Given the description of an element on the screen output the (x, y) to click on. 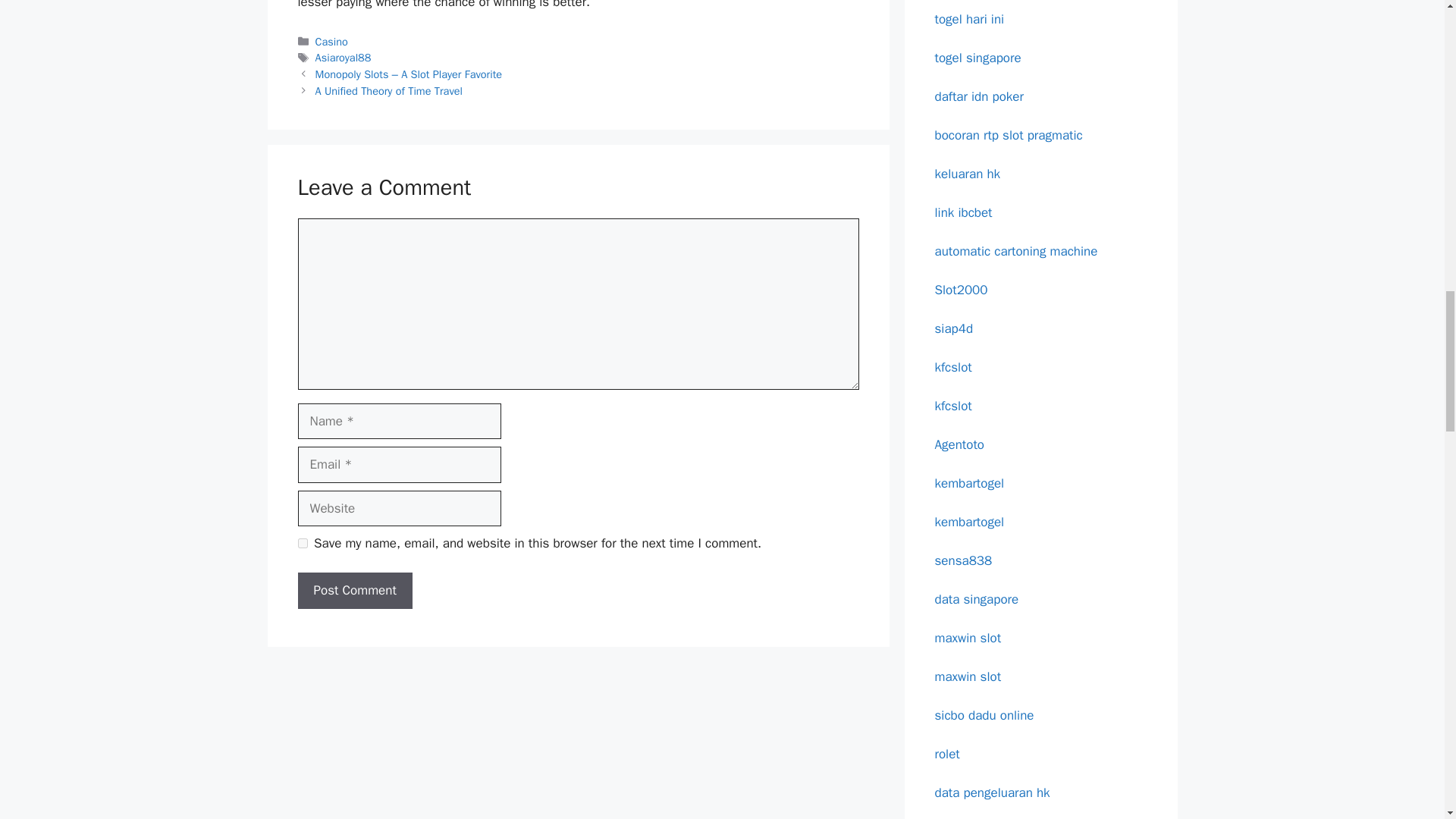
Post Comment (354, 590)
yes (302, 542)
Asiaroyal88 (343, 57)
Post Comment (354, 590)
Casino (331, 41)
A Unified Theory of Time Travel (389, 90)
